Given the description of an element on the screen output the (x, y) to click on. 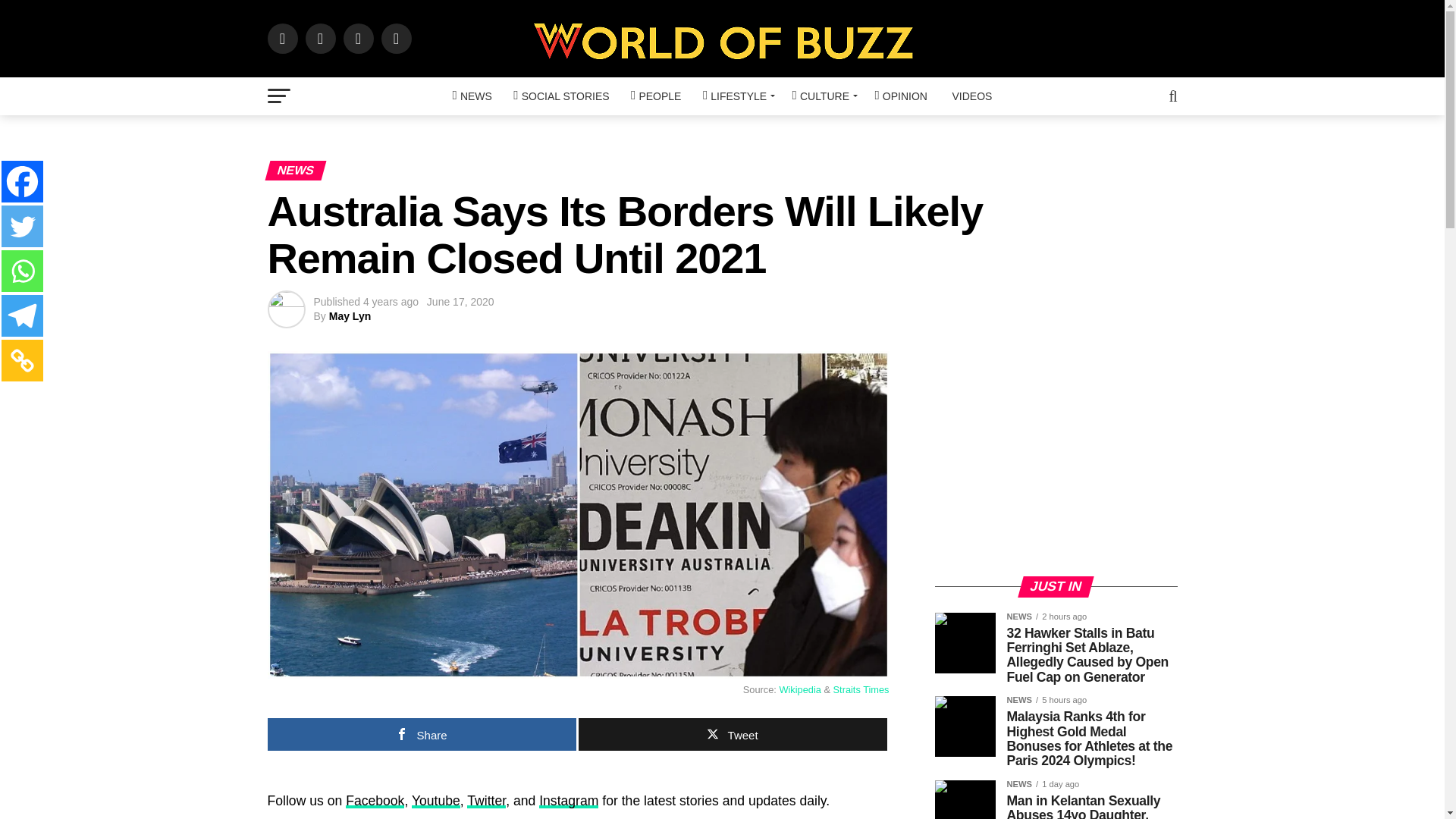
Copy Link (22, 360)
Twitter (22, 226)
Facebook (22, 181)
SOCIAL STORIES (560, 95)
Whatsapp (22, 270)
Telegram (22, 315)
NEWS (472, 95)
